Given the description of an element on the screen output the (x, y) to click on. 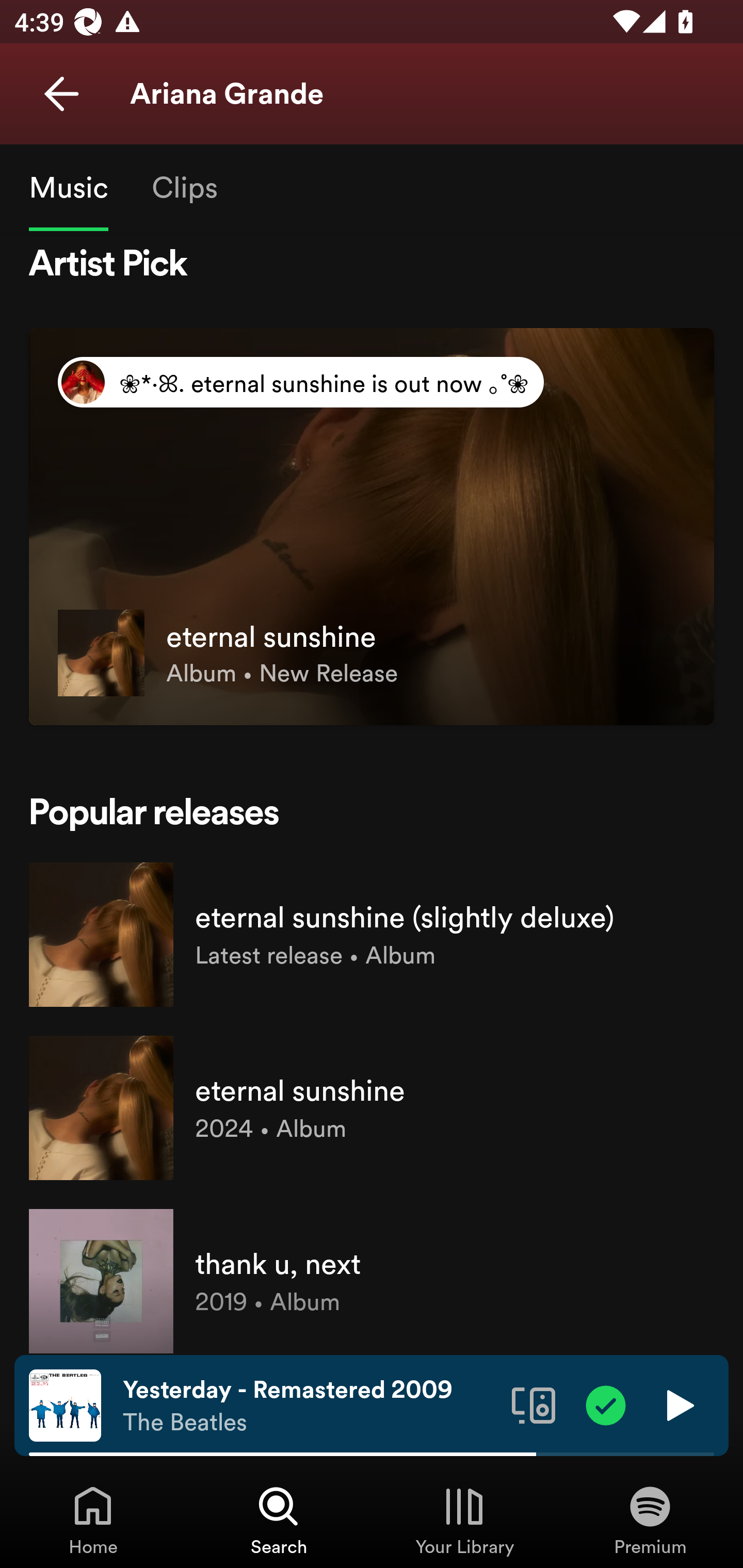
Back (60, 93)
Clips (184, 187)
eternal sunshine 2024 • Album (371, 1107)
thank u, next 2019 • Album (371, 1274)
Yesterday - Remastered 2009 The Beatles (309, 1405)
The cover art of the currently playing track (64, 1404)
Connect to a device. Opens the devices menu (533, 1404)
Item added (605, 1404)
Play (677, 1404)
Home, Tab 1 of 4 Home Home (92, 1519)
Search, Tab 2 of 4 Search Search (278, 1519)
Your Library, Tab 3 of 4 Your Library Your Library (464, 1519)
Premium, Tab 4 of 4 Premium Premium (650, 1519)
